Given the description of an element on the screen output the (x, y) to click on. 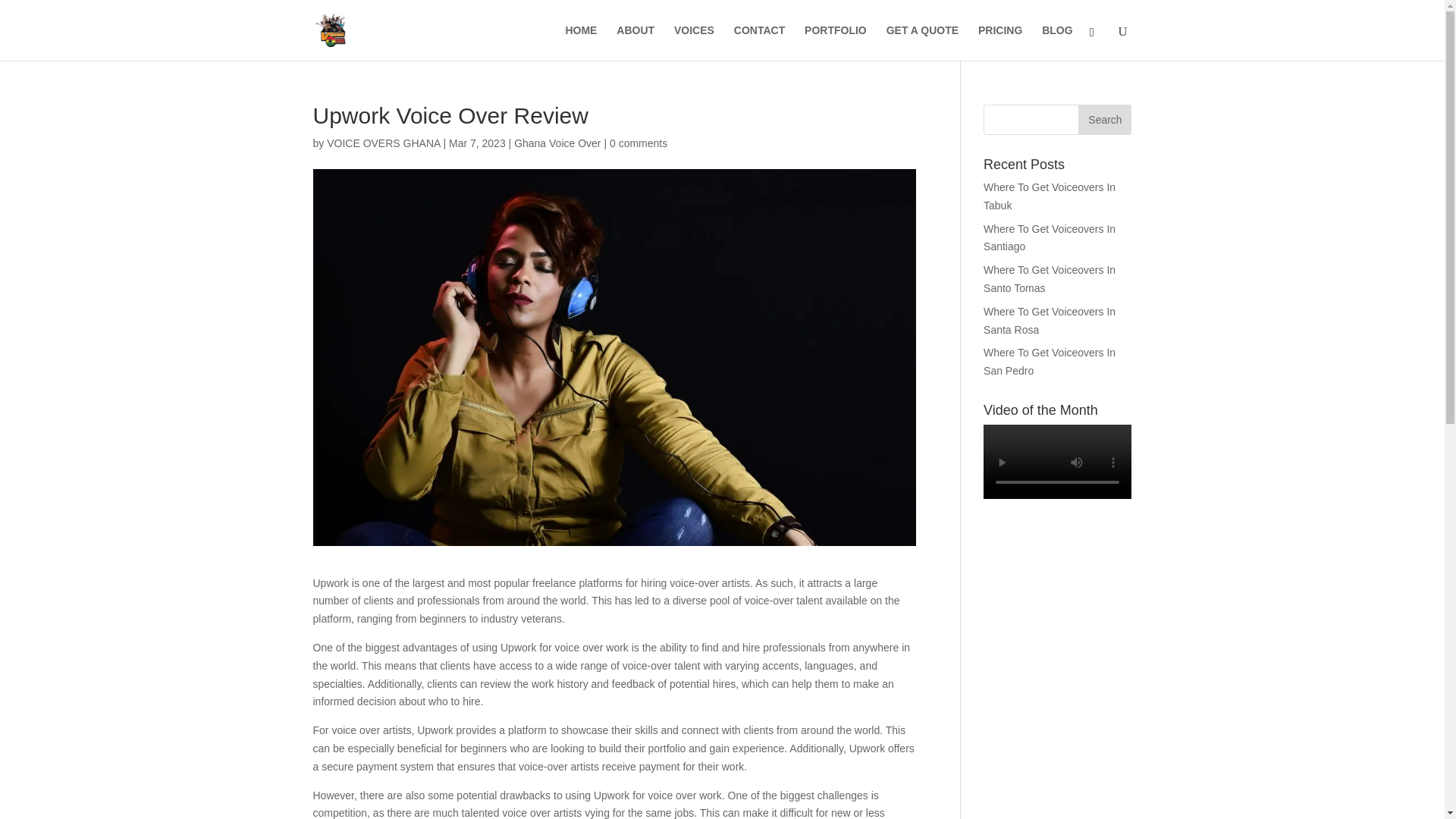
GET A QUOTE (922, 42)
PRICING (1000, 42)
VOICES (694, 42)
CONTACT (758, 42)
Posts by VOICE OVERS GHANA (382, 143)
Where To Get Voiceovers In Tabuk (1049, 195)
Where To Get Voiceovers In Santa Rosa (1049, 320)
HOME (580, 42)
Search (1104, 119)
ABOUT (634, 42)
